Given the description of an element on the screen output the (x, y) to click on. 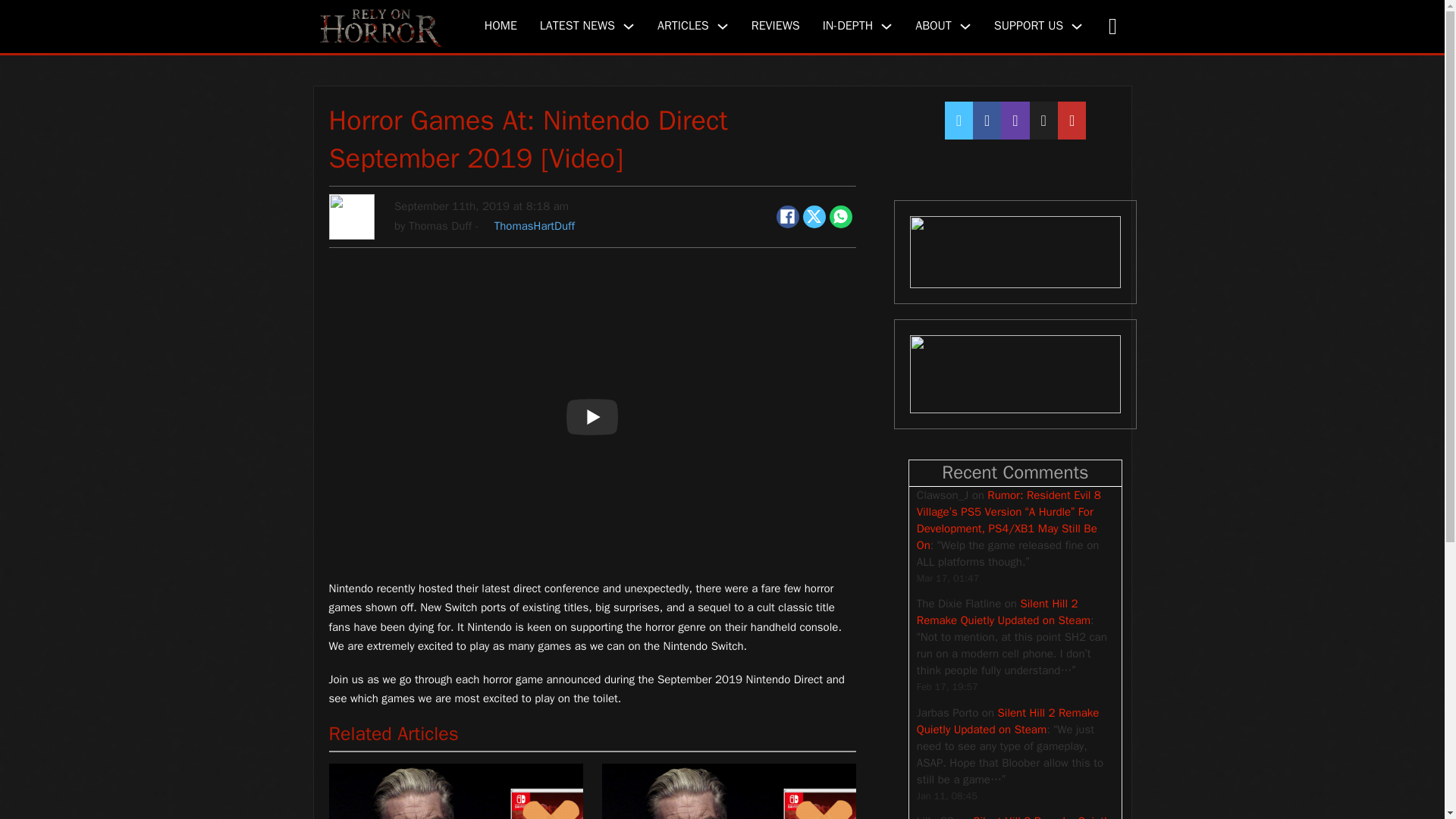
YouTube (1015, 374)
IN-DEPTH (847, 25)
Discord (1015, 251)
HOME (500, 25)
ARTICLES (683, 25)
LATEST NEWS (577, 25)
ABOUT (933, 25)
Posts by Thomas Duff (440, 225)
REVIEWS (775, 25)
